Given the description of an element on the screen output the (x, y) to click on. 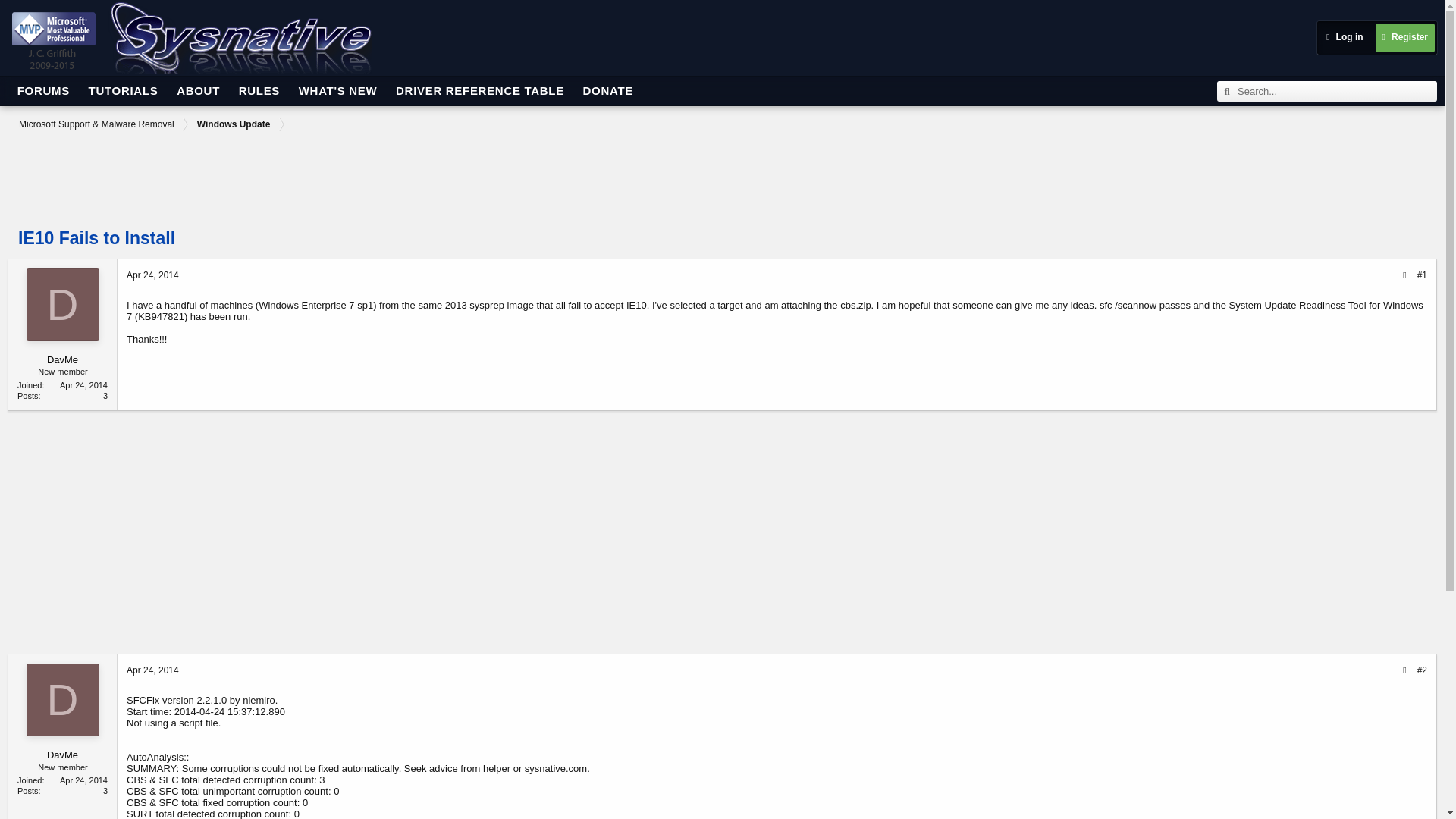
TUTORIALS (123, 91)
RULES (259, 91)
DONATE (607, 91)
Register (1405, 37)
WHAT'S NEW (338, 91)
Log in (1344, 37)
D (62, 699)
Apr 24, 2014 at 11:21 AM (152, 275)
FORUMS (43, 91)
